Given the description of an element on the screen output the (x, y) to click on. 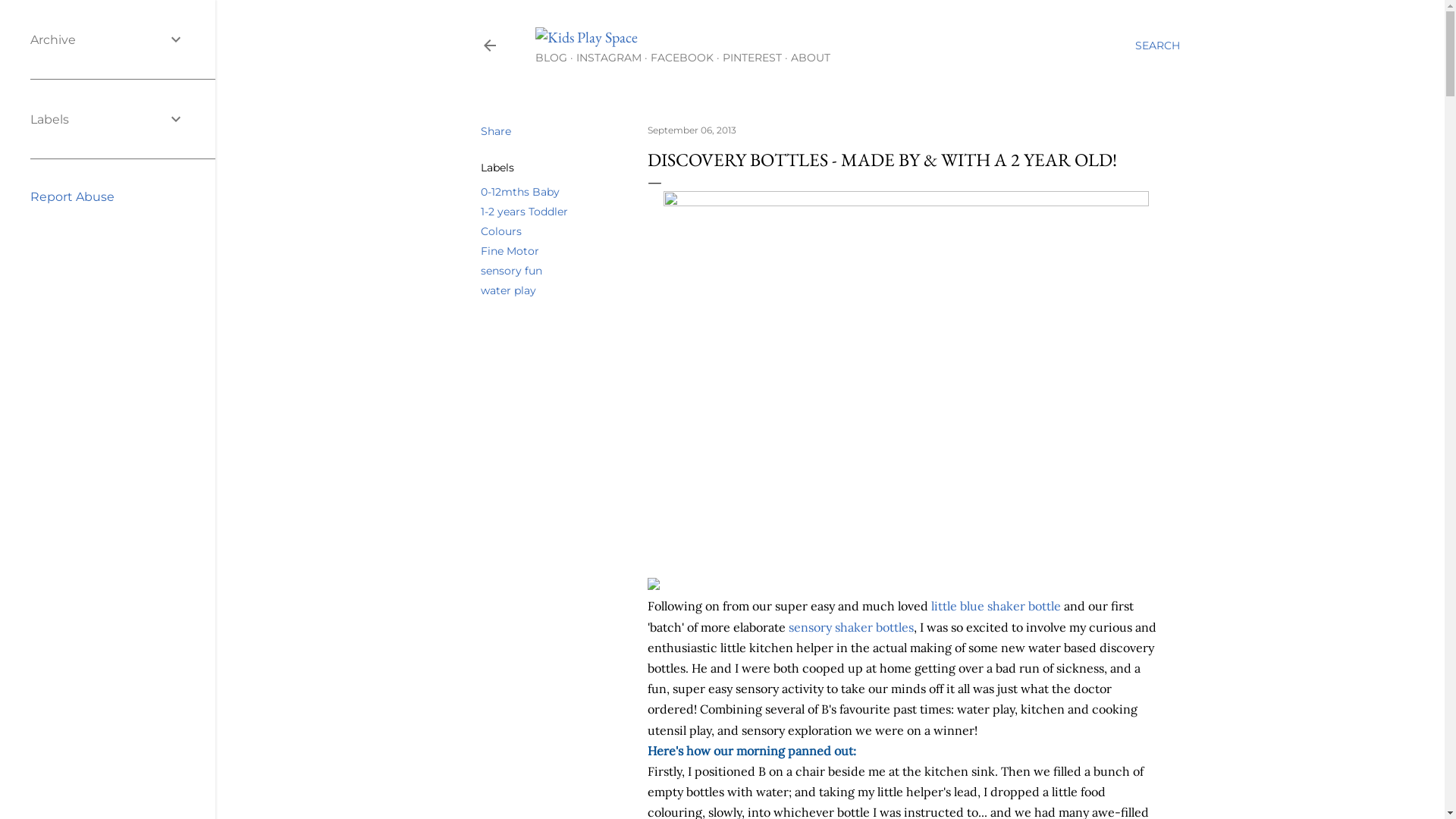
September 06, 2013 Element type: text (691, 129)
Report Abuse Element type: text (72, 196)
sensory shaker bottles Element type: text (850, 626)
INSTAGRAM Element type: text (608, 57)
sensory fun Element type: text (511, 270)
Share Element type: text (495, 131)
SEARCH Element type: text (1156, 45)
FACEBOOK Element type: text (681, 57)
ABOUT Element type: text (809, 57)
Colours Element type: text (500, 231)
water play Element type: text (508, 290)
0-12mths Baby Element type: text (519, 191)
Fine Motor Element type: text (509, 250)
little blue shaker bottle Element type: text (995, 605)
PINTEREST Element type: text (751, 57)
1-2 years Toddler Element type: text (523, 211)
BLOG Element type: text (551, 57)
